Given the description of an element on the screen output the (x, y) to click on. 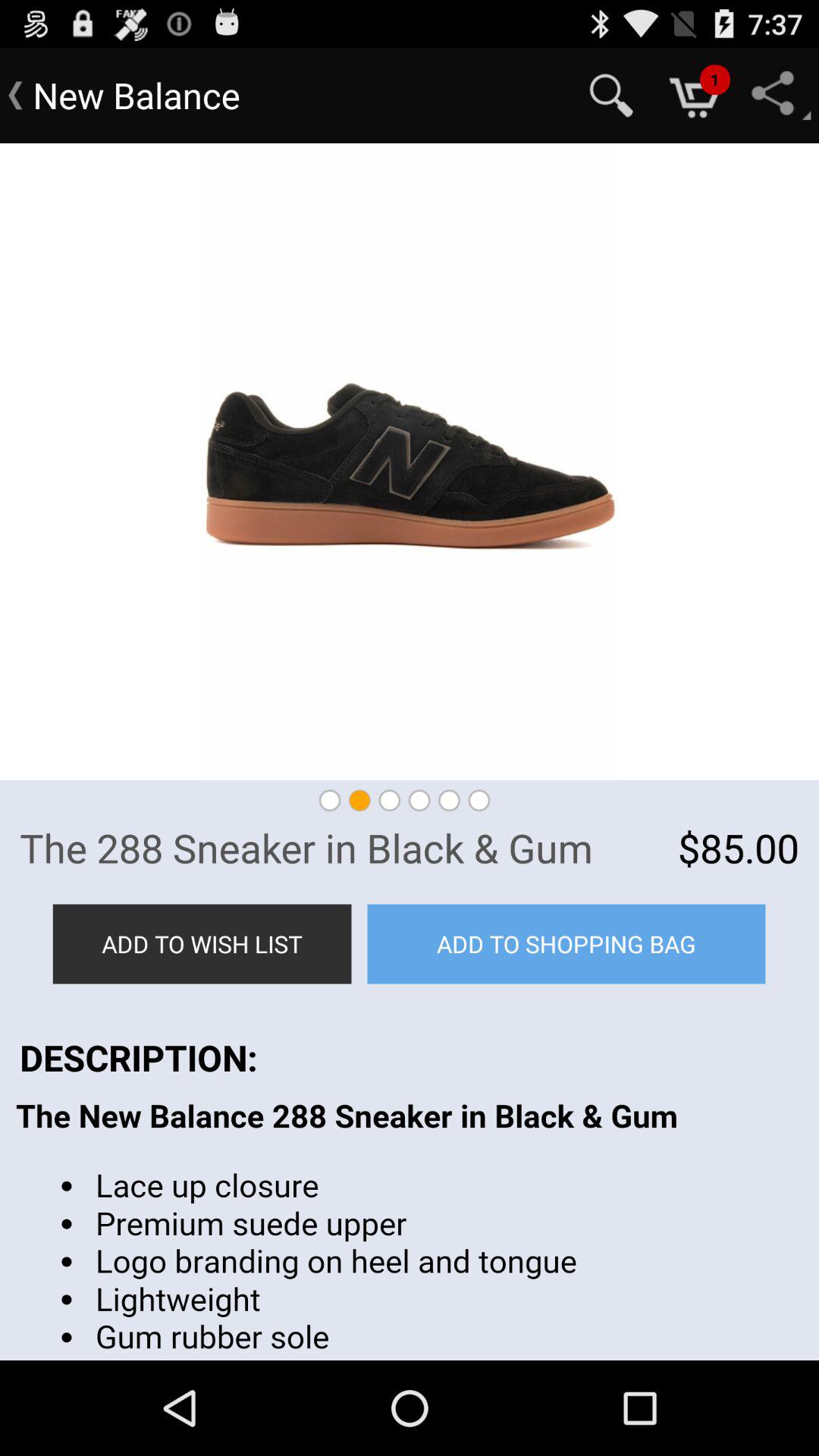
zoom image (409, 461)
